Given the description of an element on the screen output the (x, y) to click on. 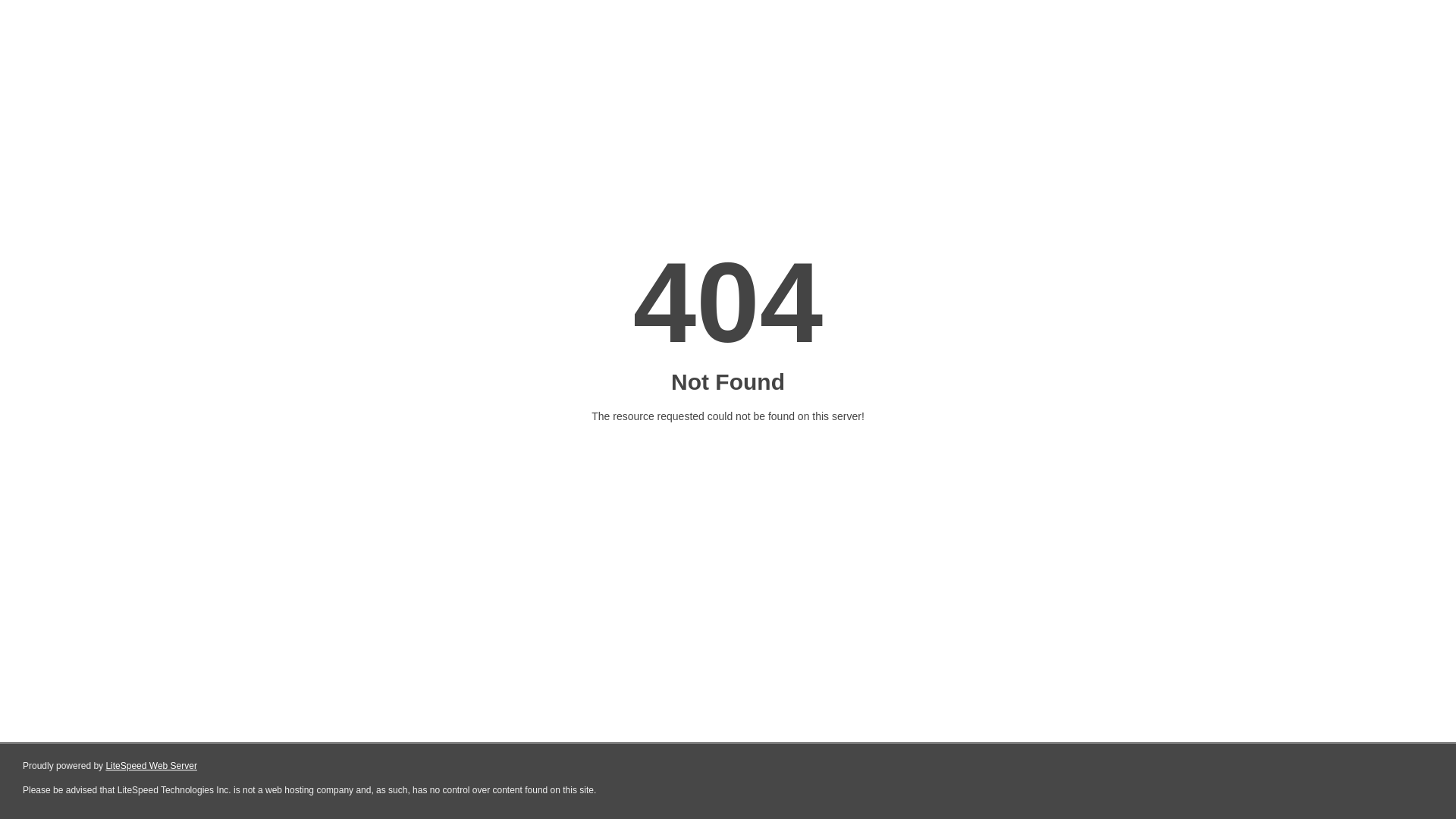
LiteSpeed Web Server Element type: text (151, 765)
